Given the description of an element on the screen output the (x, y) to click on. 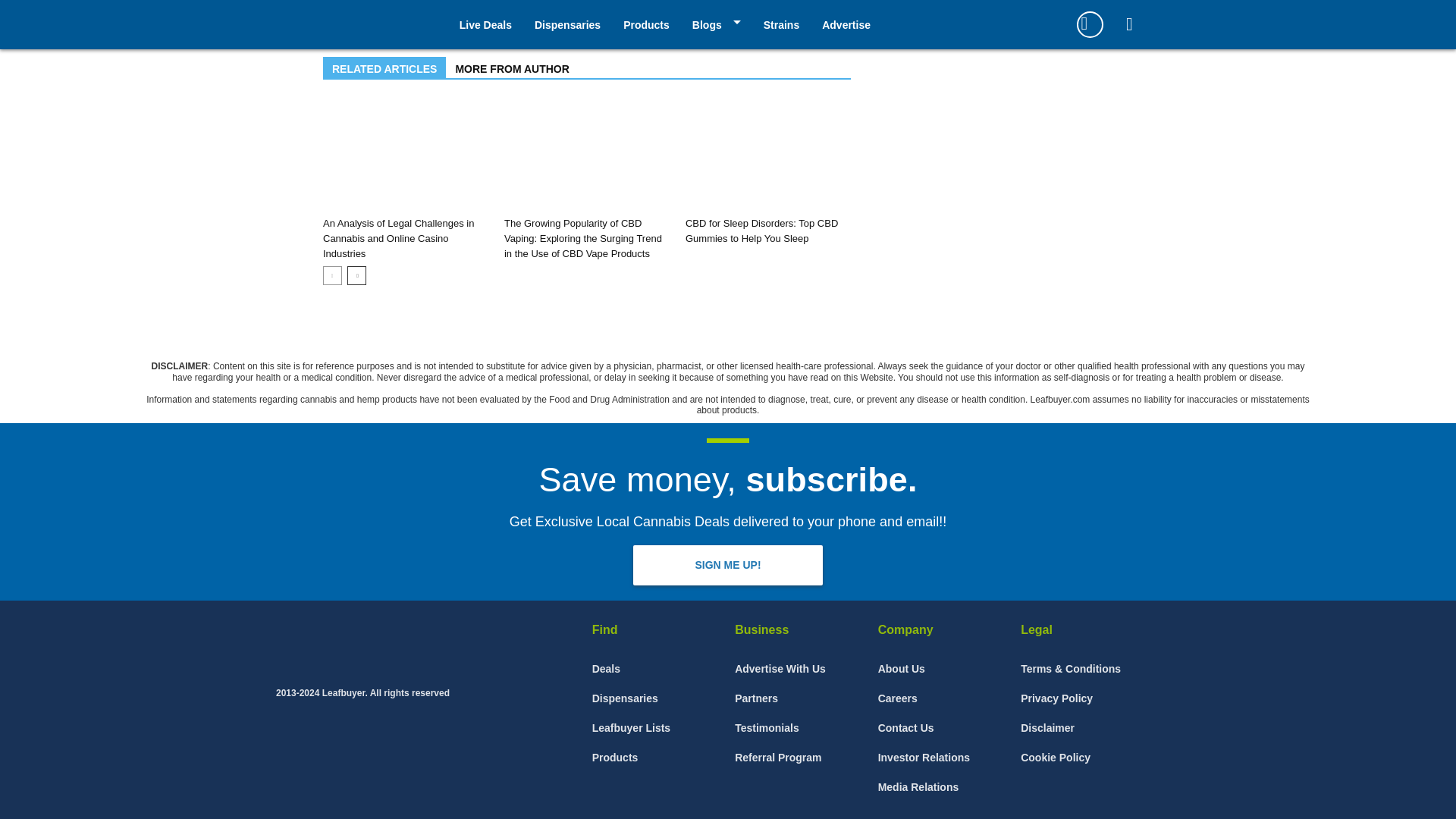
CBD for Sleep Disorders: Top CBD Gummies to Help You Sleep (761, 230)
CBD for Sleep Disorders: Top CBD Gummies to Help You Sleep (767, 154)
